Given the description of an element on the screen output the (x, y) to click on. 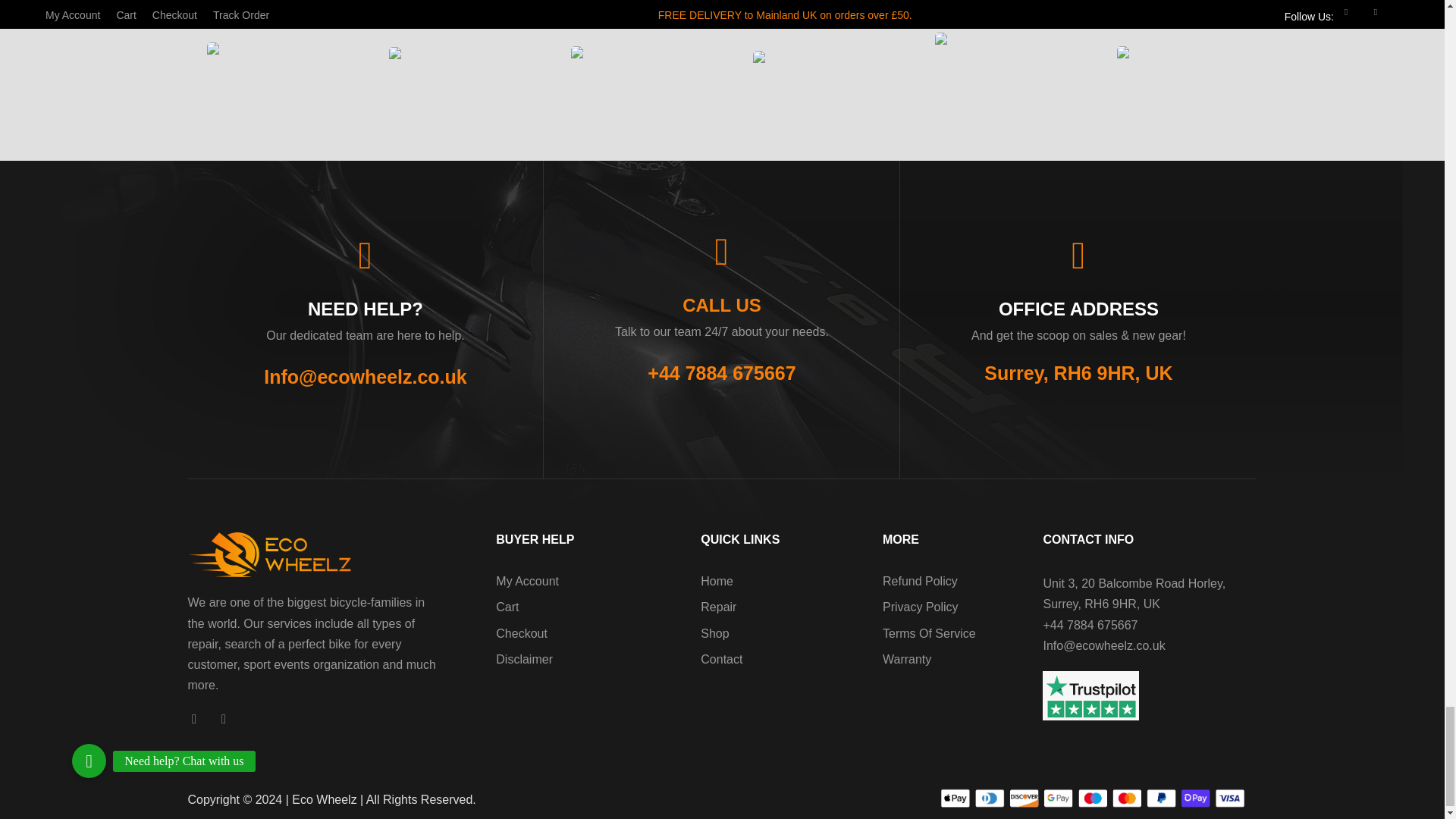
Brand Name (631, 62)
Brand Name (1177, 62)
Brand Name (267, 63)
Brand Name (995, 62)
Brand Name (813, 63)
Brand Name (449, 62)
